Given the description of an element on the screen output the (x, y) to click on. 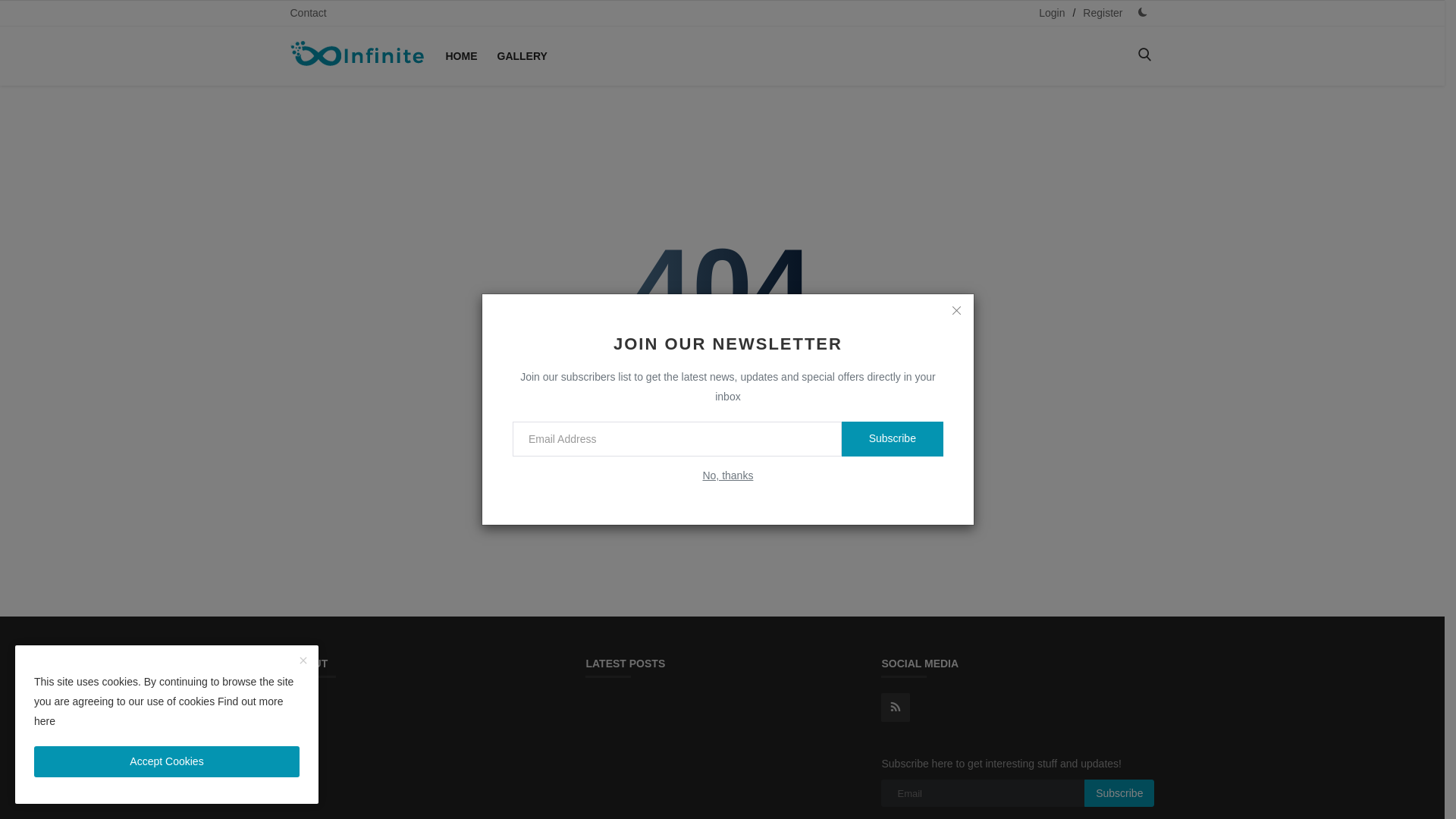
No, thanks (726, 475)
dark (1141, 12)
Subscribe (1119, 792)
Subscribe (892, 438)
Accept Cookies (166, 761)
Login (1050, 13)
dark (28, 282)
Find out more here (157, 711)
Register (1102, 13)
Contact (307, 13)
